Given the description of an element on the screen output the (x, y) to click on. 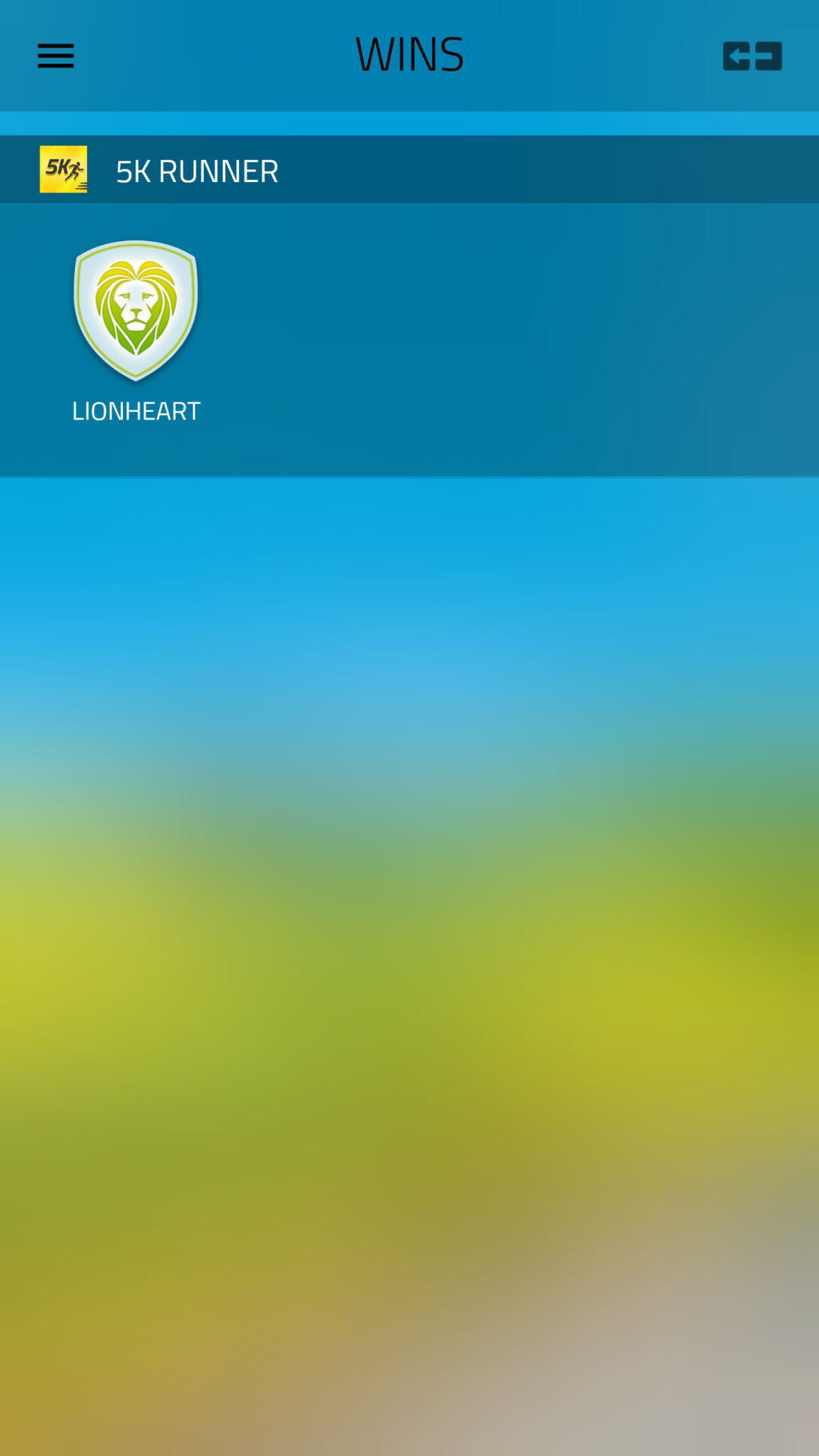
menu option (61, 55)
